Given the description of an element on the screen output the (x, y) to click on. 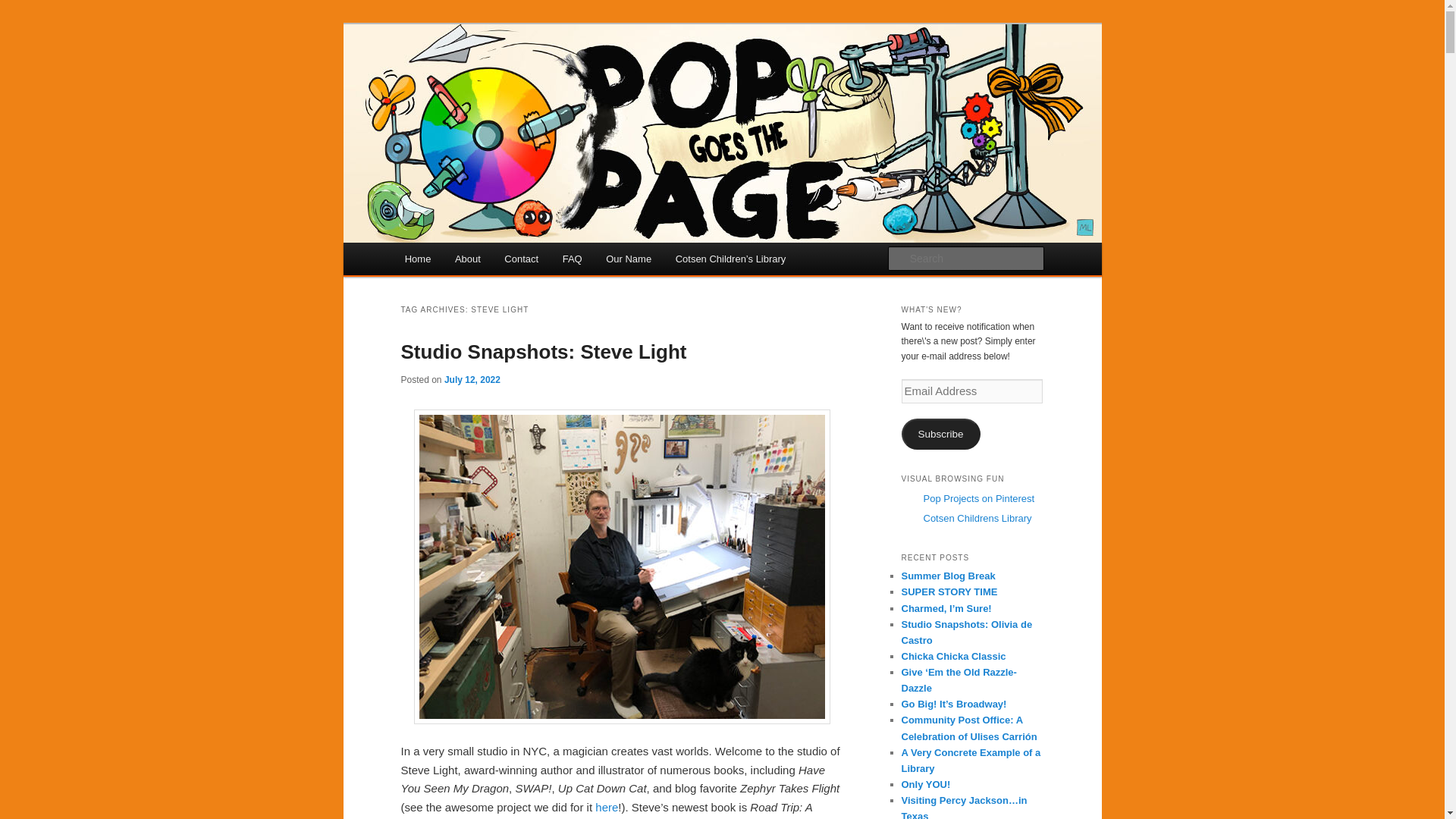
FAQ (572, 258)
About (467, 258)
Contact (521, 258)
Our Name (628, 258)
Studio Snapshots: Steve Light (542, 351)
Pop Goes the Page (503, 78)
July 12, 2022 (472, 379)
Pop Goes the Page (503, 78)
9:30 am (472, 379)
